Given the description of an element on the screen output the (x, y) to click on. 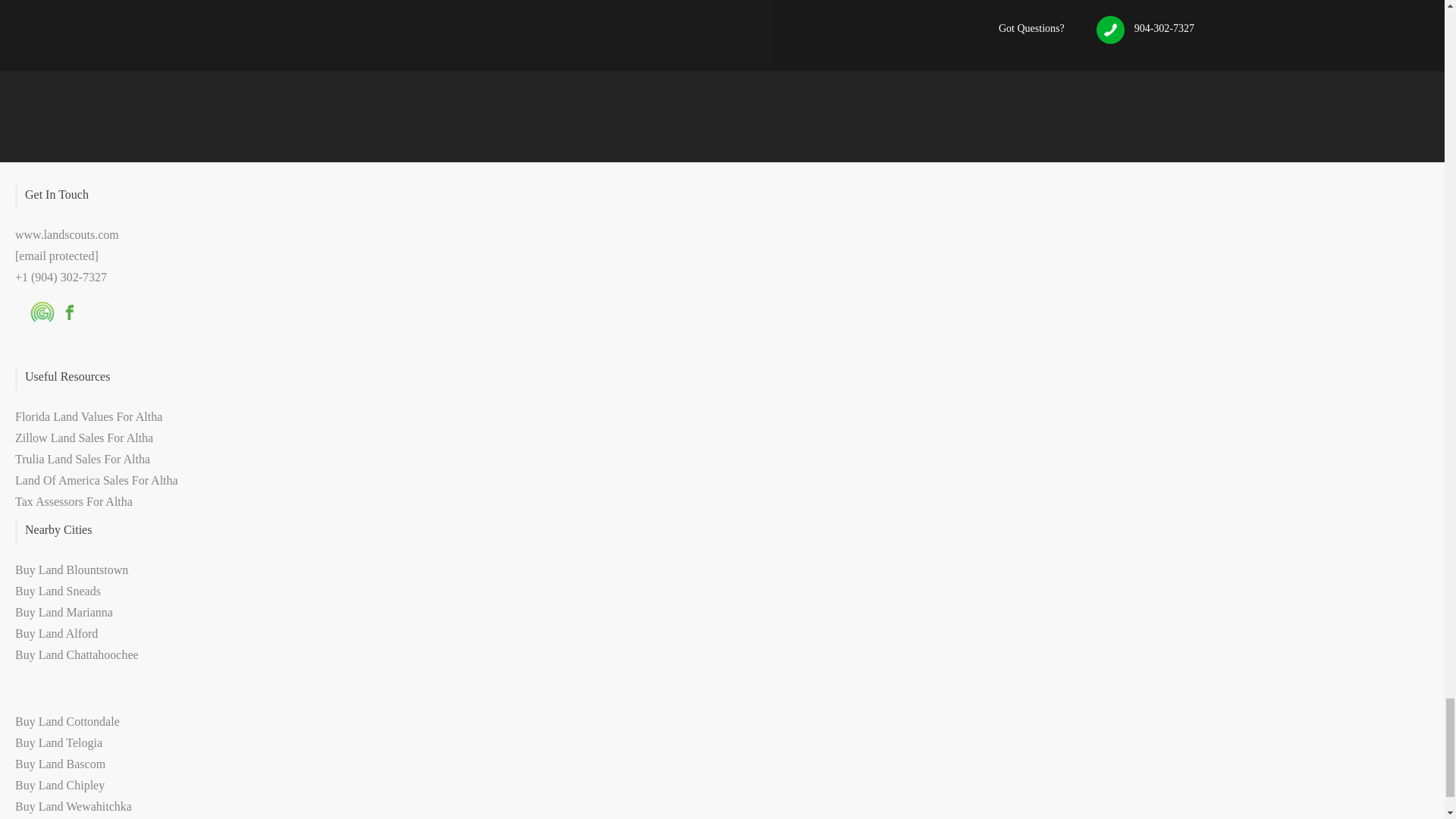
Florida Land Values For Altha (87, 416)
Buy Land Chattahoochee (76, 654)
Buy Land Marianna (63, 612)
Buy Land Alford (55, 633)
Trulia Land Sales For Altha (81, 459)
Buy Land Telogia (57, 742)
Tax Assessors For Altha (73, 501)
Buy Land Bascom (59, 763)
Buy Land Chipley (59, 784)
Buy Land Sneads (57, 590)
